Given the description of an element on the screen output the (x, y) to click on. 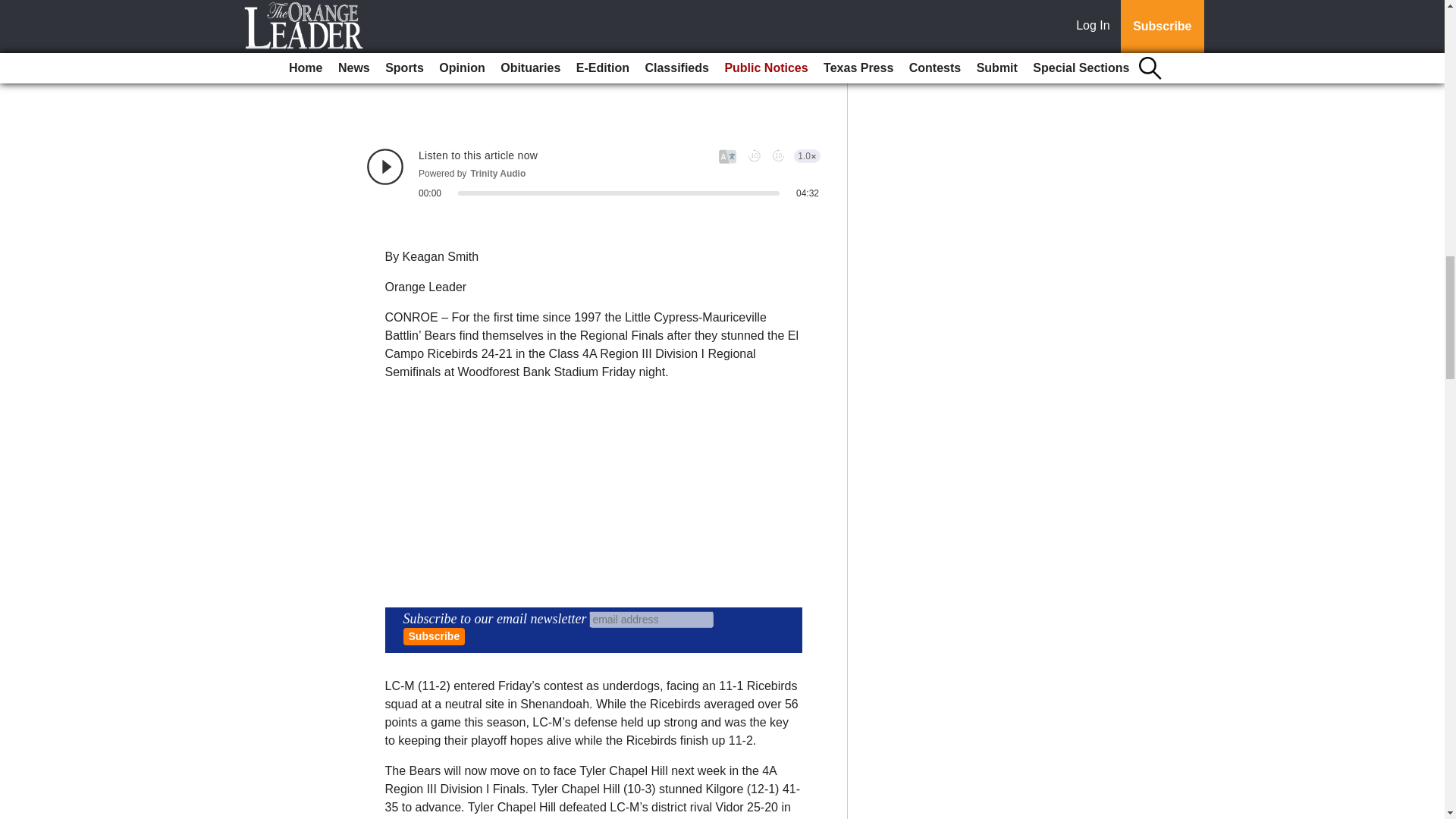
Trinity Audio Player (592, 173)
Subscribe (434, 636)
Subscribe (434, 636)
